Given the description of an element on the screen output the (x, y) to click on. 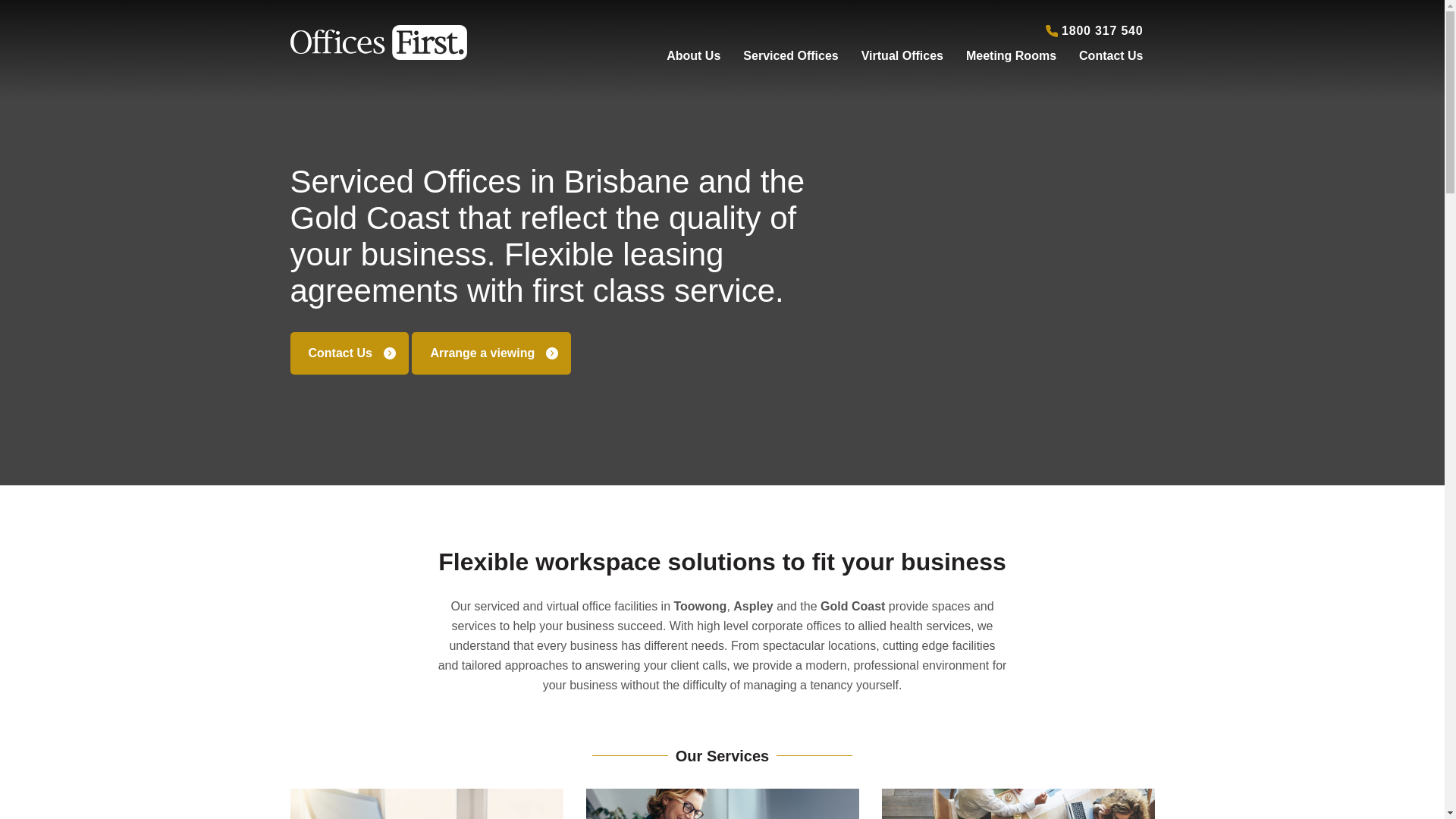
Meeting Rooms Element type: text (1011, 52)
Contact Us Element type: text (348, 353)
Serviced Offices Element type: text (790, 52)
Contact Us Element type: text (1110, 52)
About Us Element type: text (693, 52)
Virtual Offices Element type: text (902, 52)
Arrange a viewing Element type: text (491, 353)
1800 317 540 Element type: text (1094, 30)
